Given the description of an element on the screen output the (x, y) to click on. 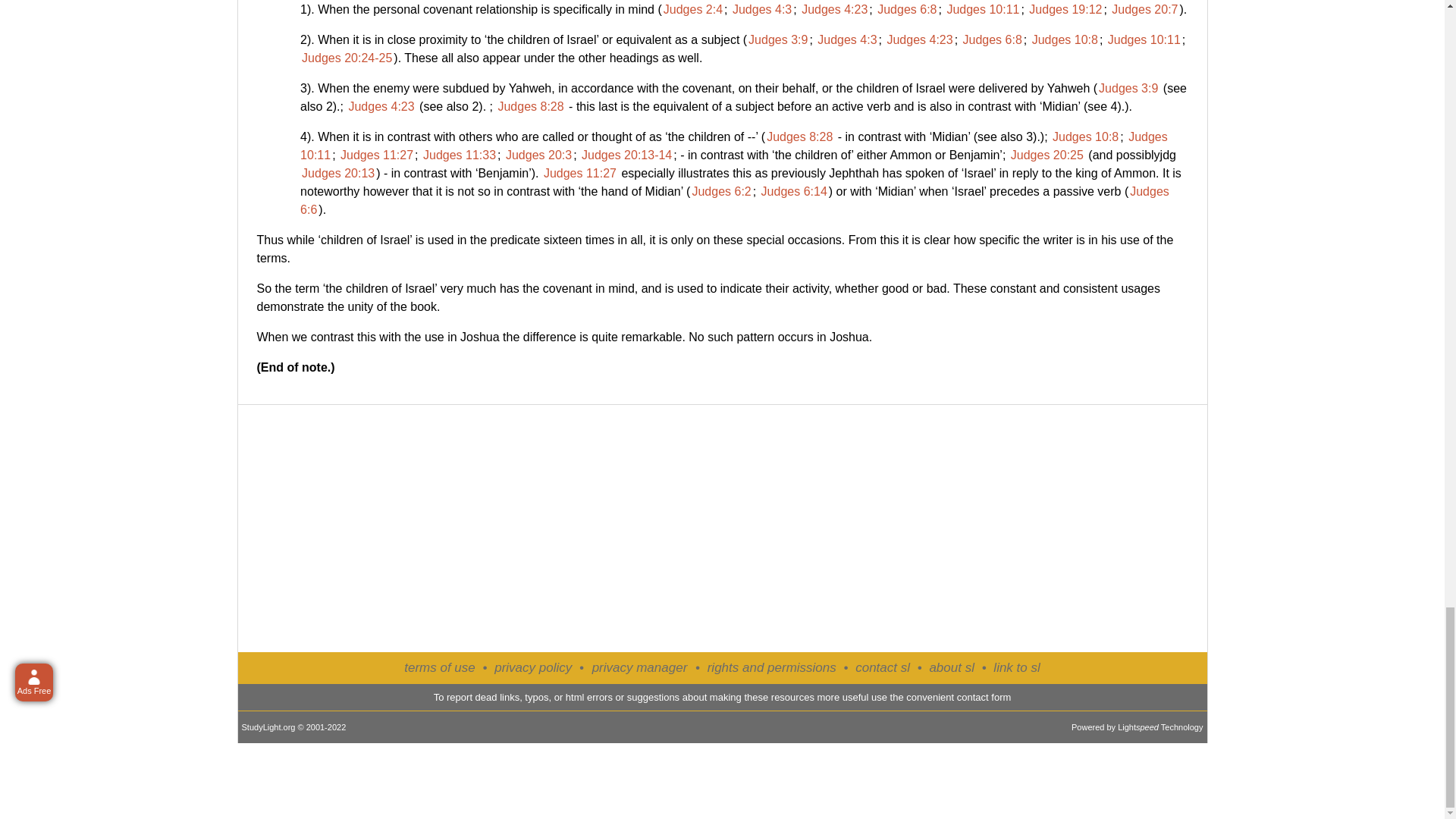
contact sl (883, 667)
terms of use (440, 667)
rights and permissions (771, 667)
privacy manager (640, 668)
about sl (951, 667)
privacy policy (533, 667)
link to sl (1015, 667)
contact form (983, 696)
